Given the description of an element on the screen output the (x, y) to click on. 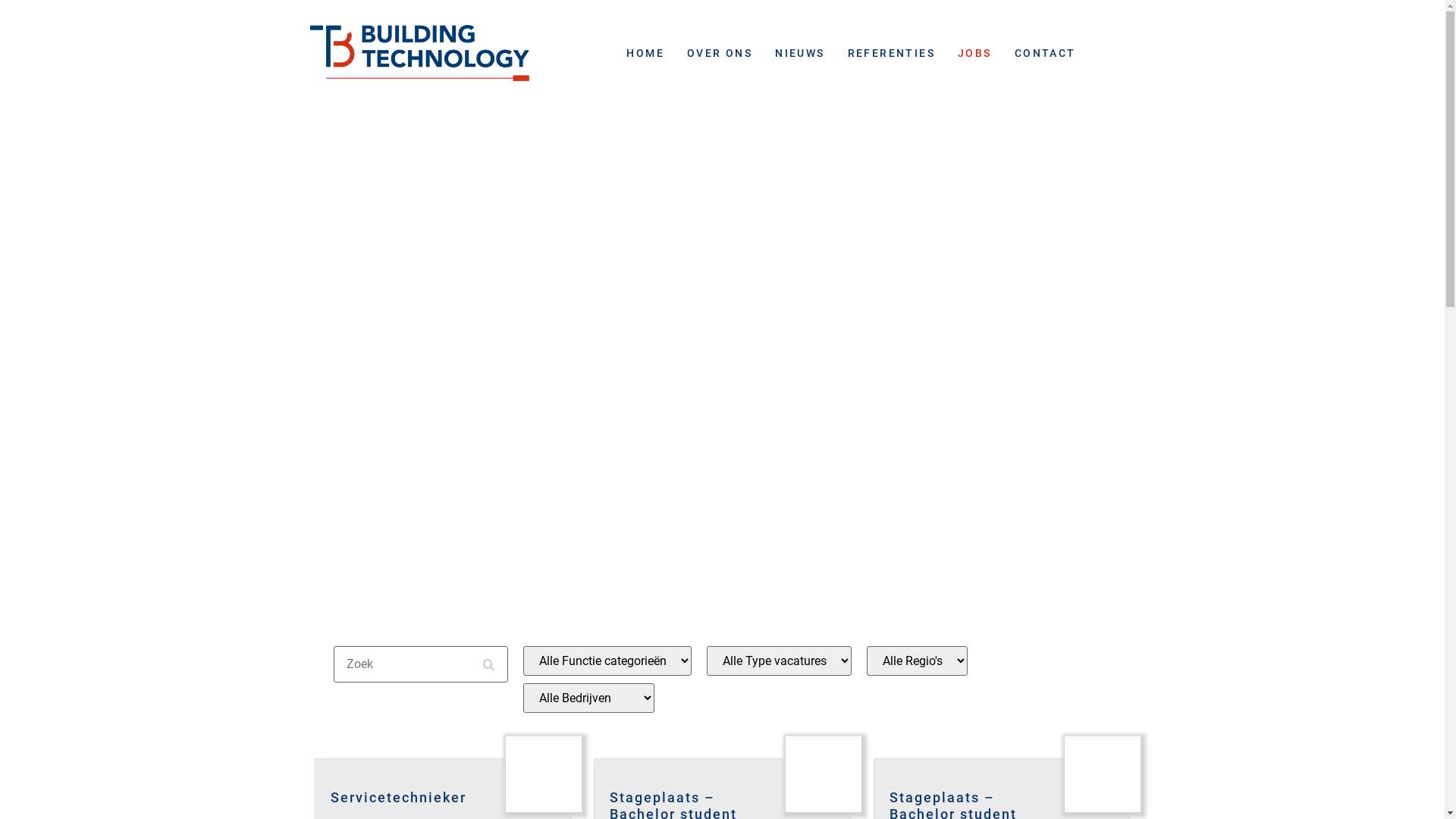
CONTACT Element type: text (1045, 52)
HOME Element type: text (645, 52)
JOBS Element type: text (974, 52)
REFERENTIES Element type: text (891, 52)
Servicetechnieker Element type: text (442, 790)
OVER ONS Element type: text (719, 52)
NIEUWS Element type: text (799, 52)
